Given the description of an element on the screen output the (x, y) to click on. 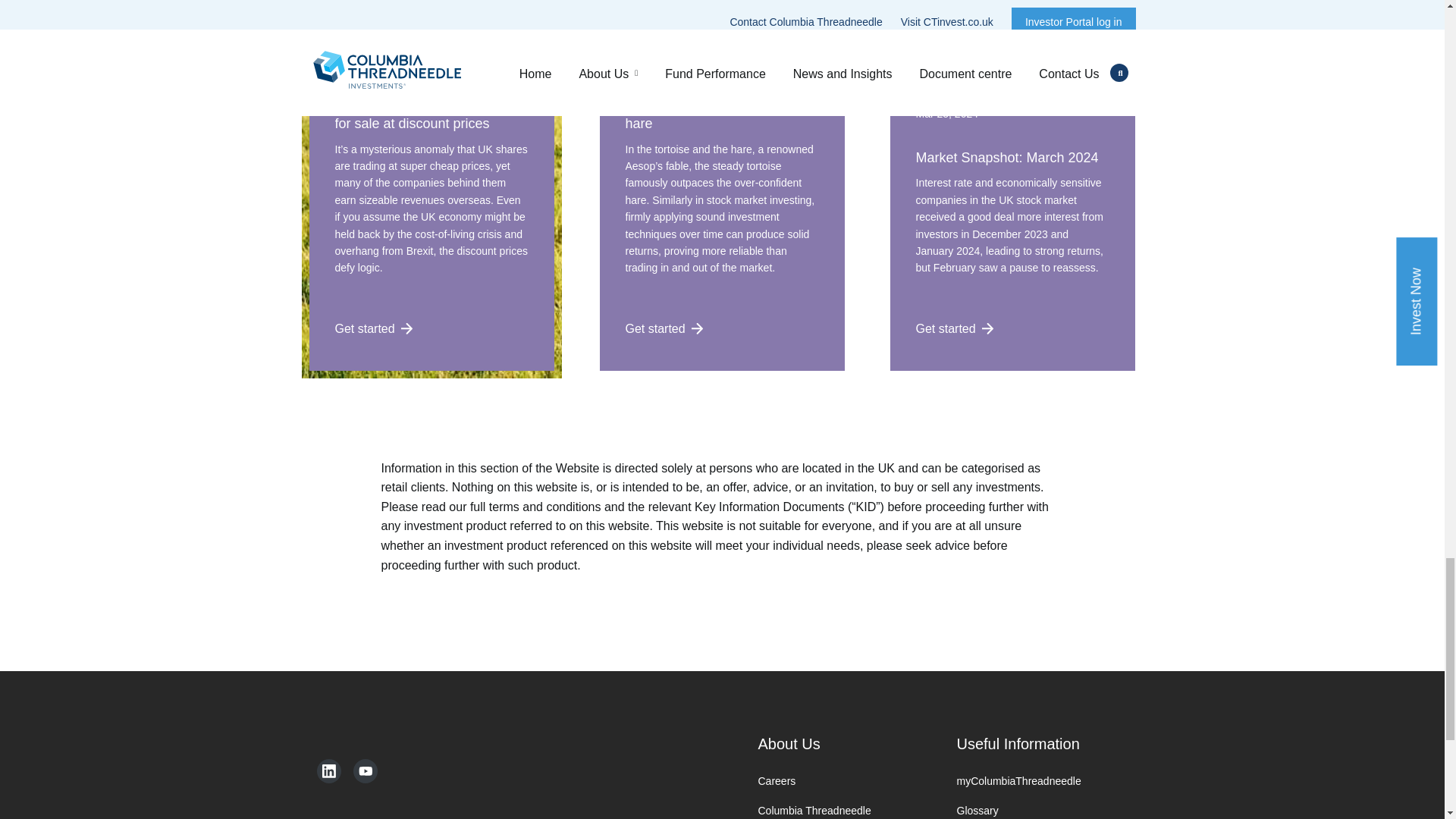
Columbia Threadneedle Foundation (834, 810)
Get started (661, 328)
Get started (952, 328)
Get started (371, 328)
myColumbiaThreadneedle (1032, 781)
About Us (834, 743)
Useful Information (1032, 743)
Careers (834, 781)
